Given the description of an element on the screen output the (x, y) to click on. 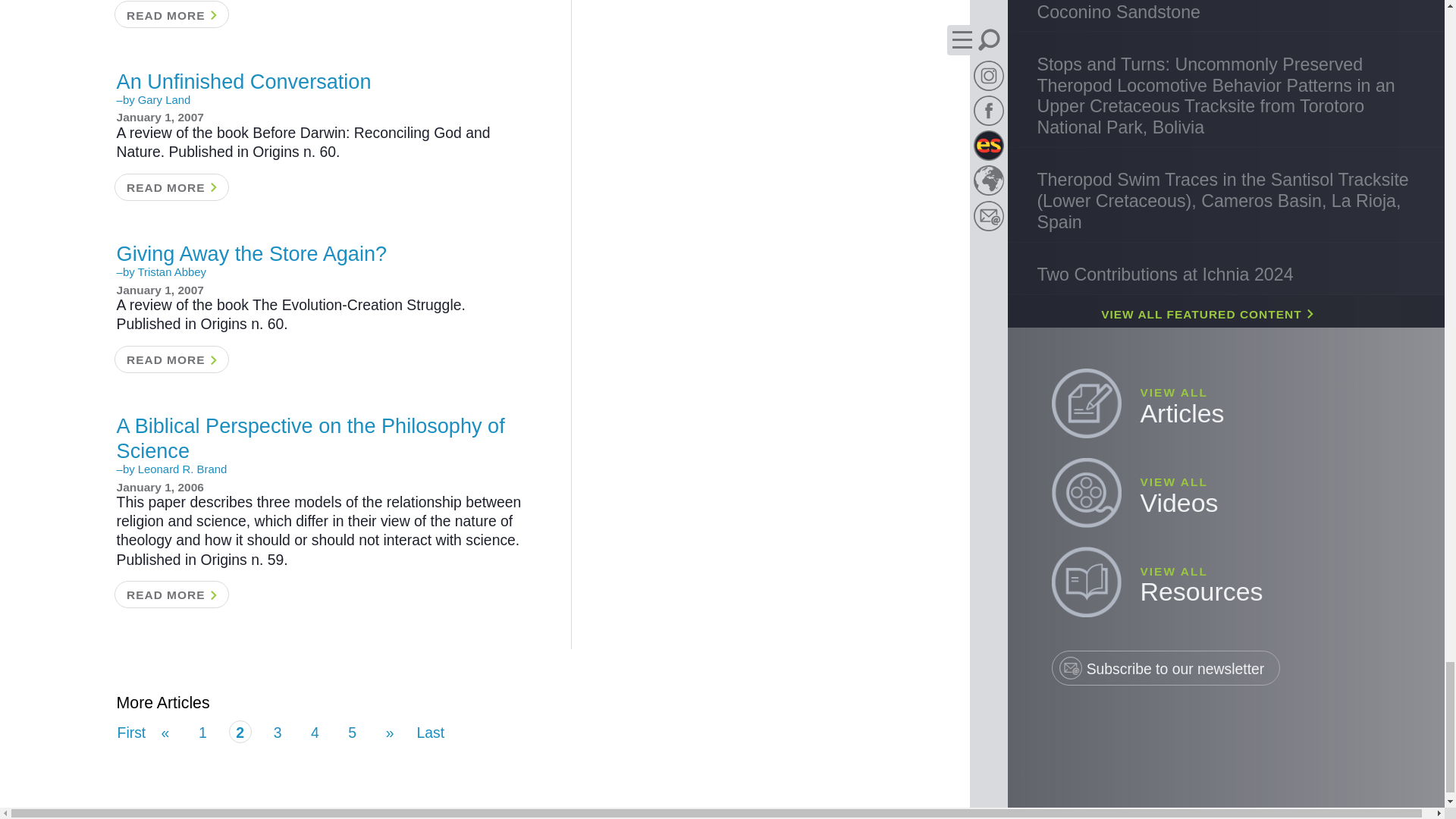
READ MORE (170, 13)
READ MORE (170, 186)
READ MORE (170, 359)
